Given the description of an element on the screen output the (x, y) to click on. 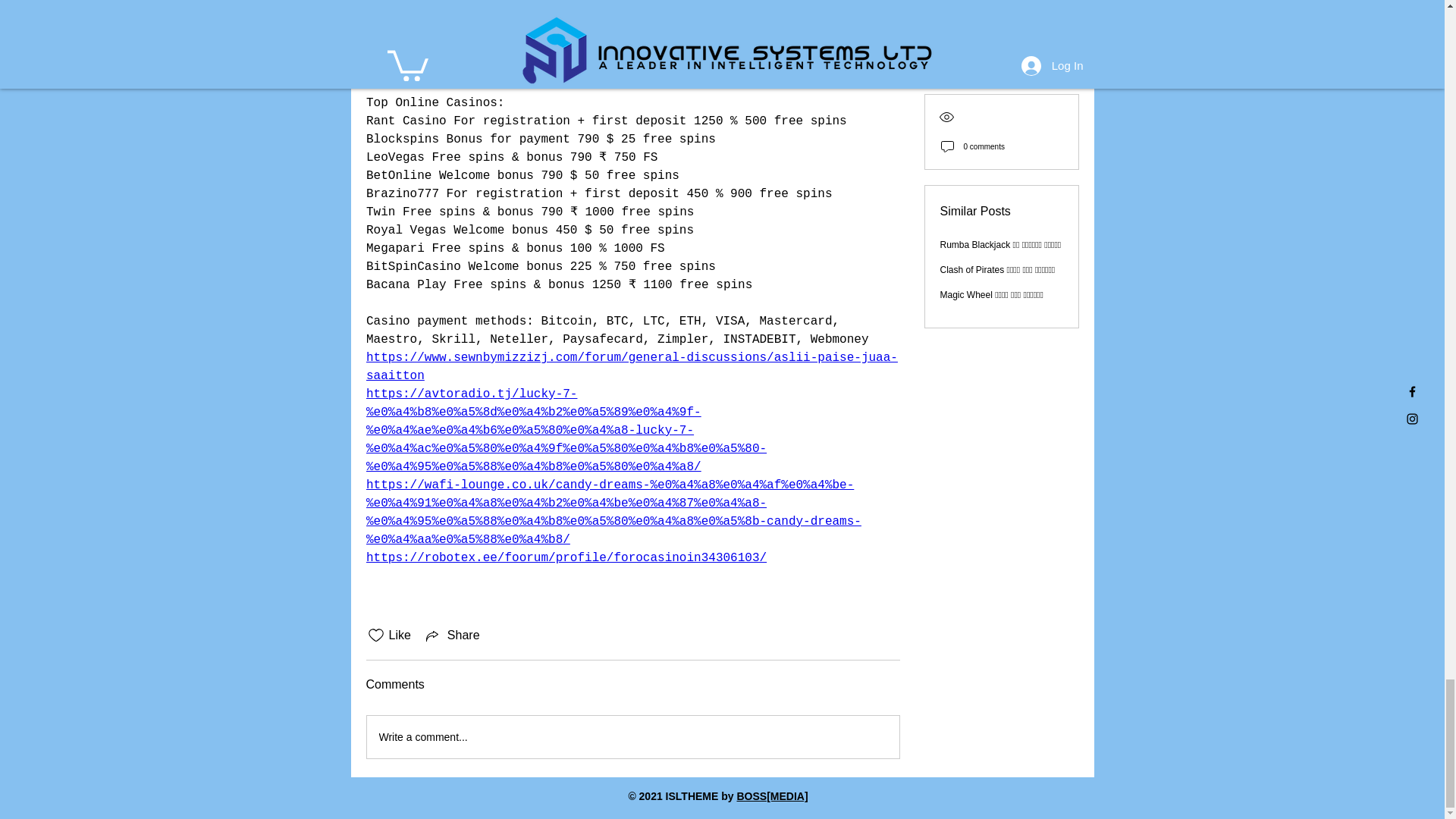
Share (451, 635)
Write a comment... (632, 736)
